Given the description of an element on the screen output the (x, y) to click on. 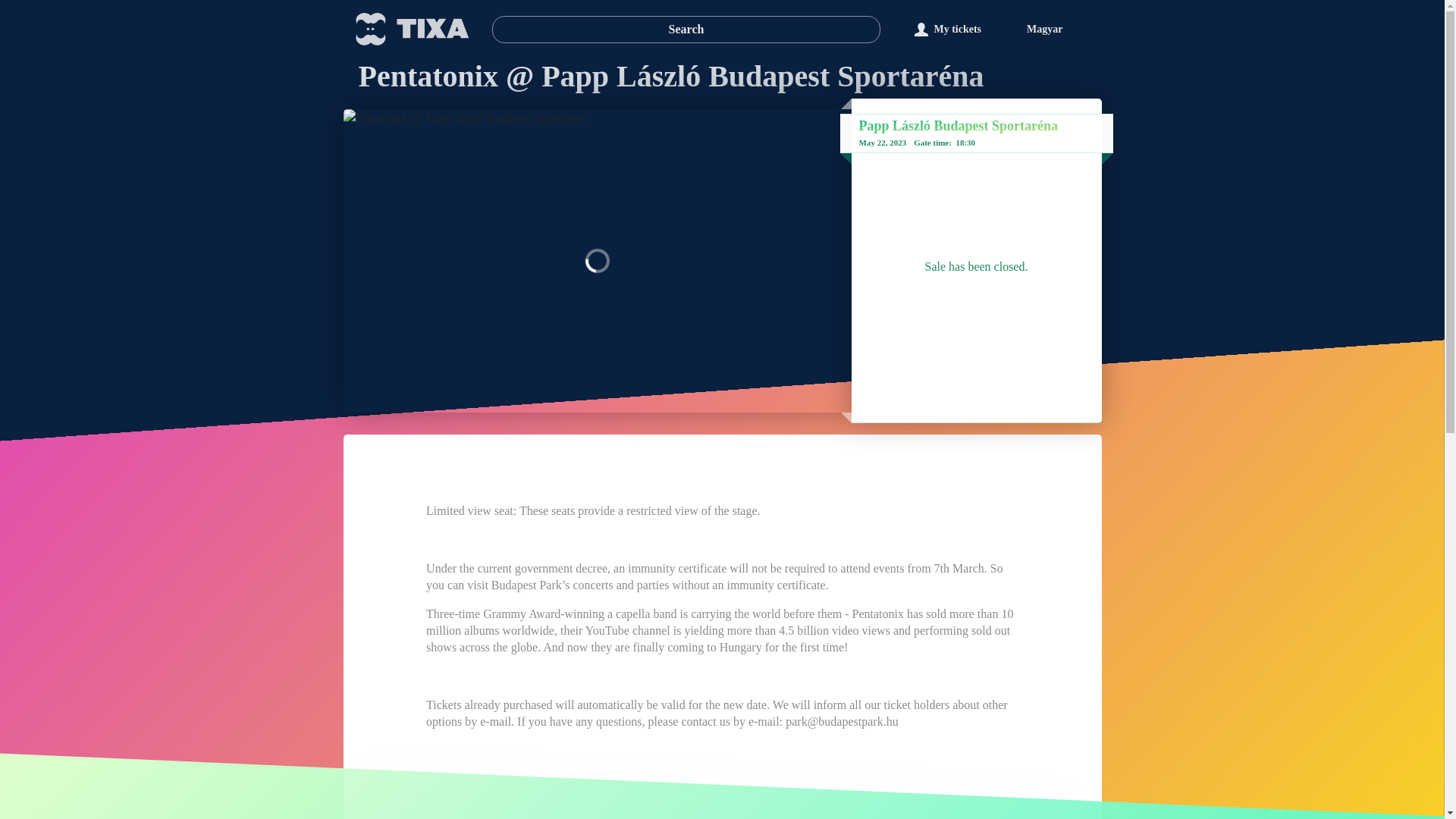
Magyar (1044, 29)
